Given the description of an element on the screen output the (x, y) to click on. 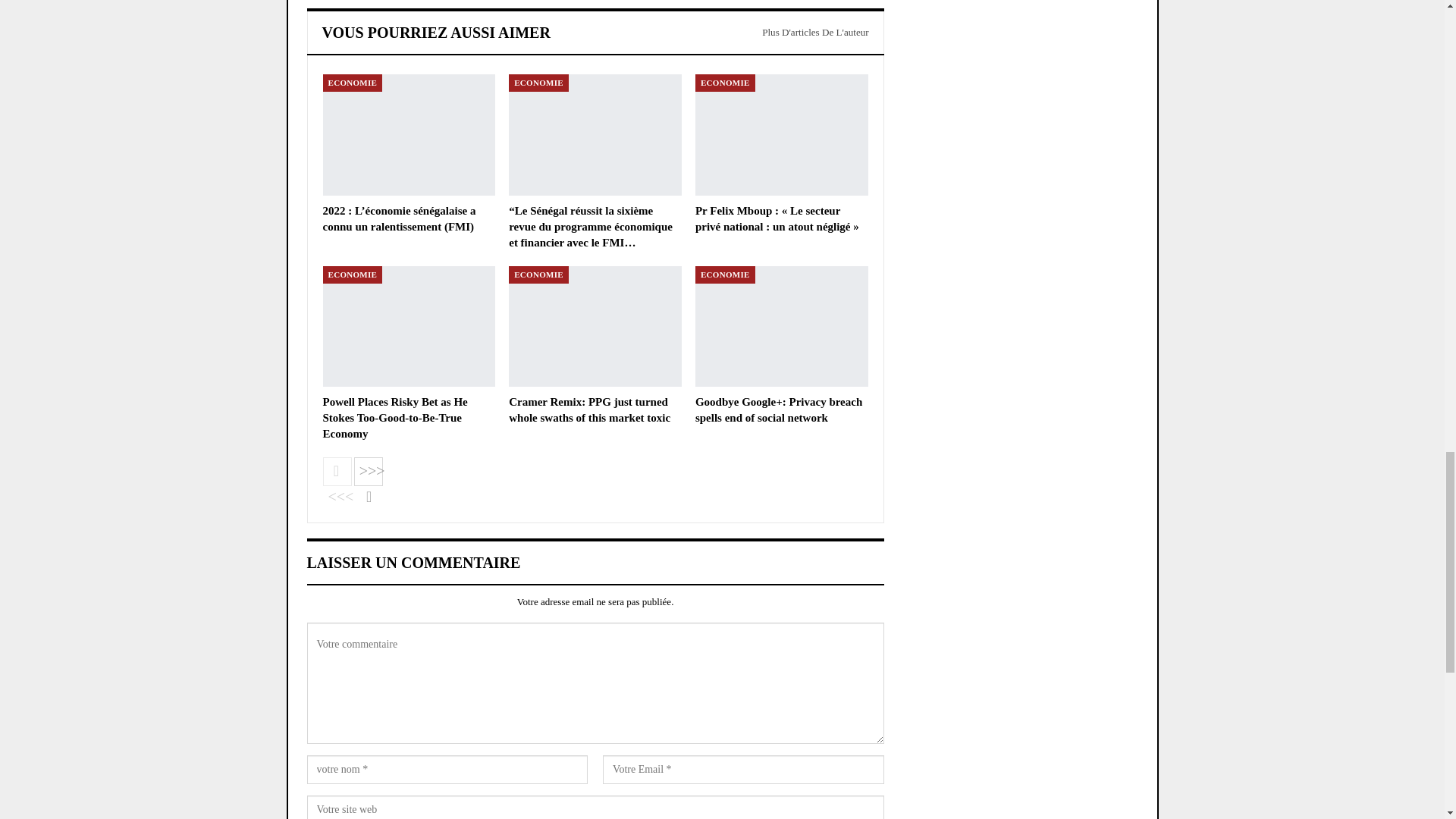
VOUS POURRIEZ AUSSI AIMER (435, 33)
Plus D'Articles De L'Auteur (815, 32)
ECONOMIE (352, 82)
